Given the description of an element on the screen output the (x, y) to click on. 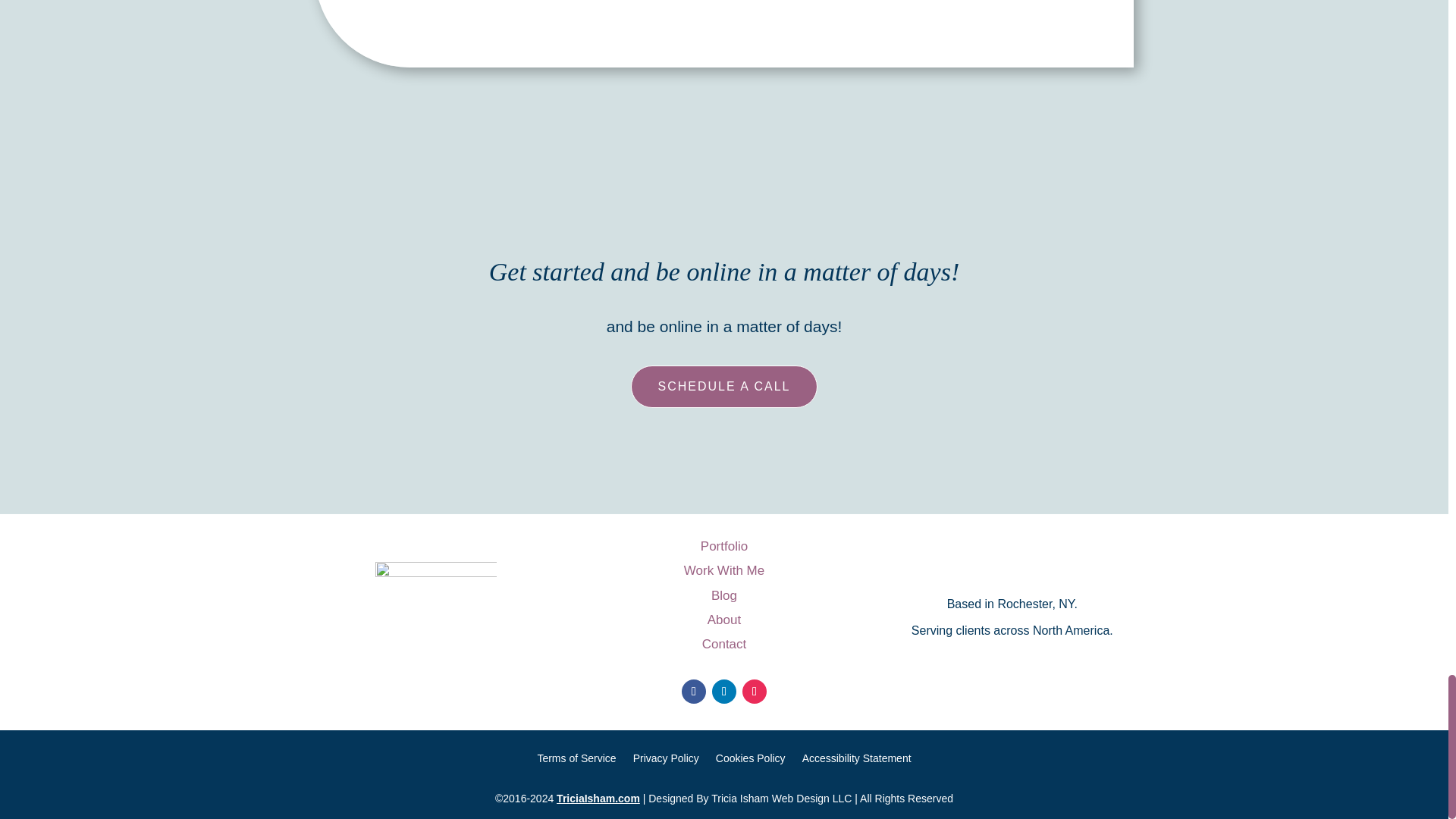
Cookies Policy (751, 760)
TriciaIsham.com (598, 798)
Follow on Facebook (693, 691)
Follow on LinkedIn (723, 691)
Privacy Policy (665, 760)
Portfolio (724, 545)
SCHEDULE A CALL (723, 386)
Accessibility Statement (856, 760)
Follow on Instagram (754, 691)
Terms of Service (576, 760)
About (724, 619)
Blog (723, 595)
Work With Me (724, 570)
Contact (723, 644)
